Given the description of an element on the screen output the (x, y) to click on. 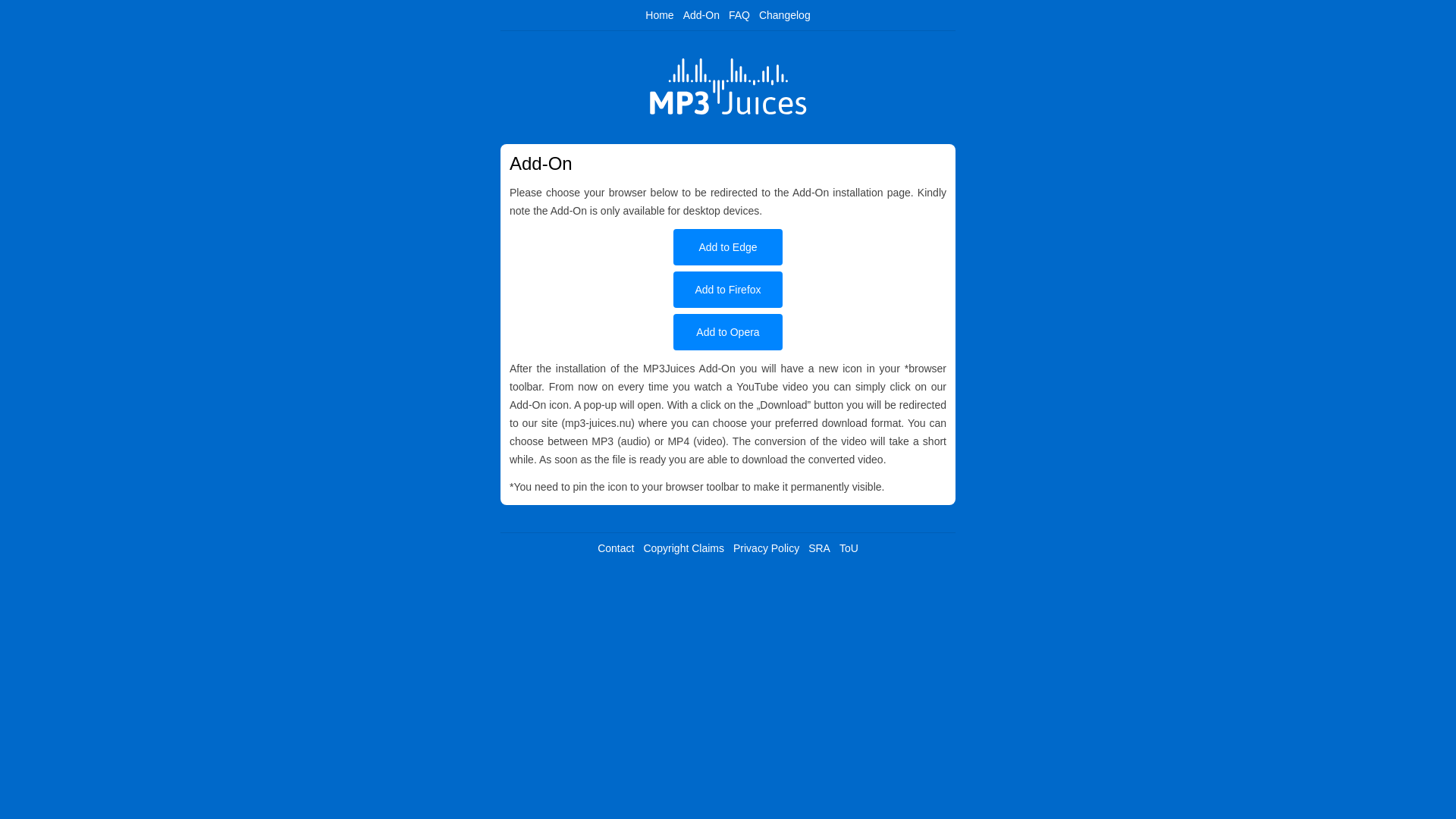
Home (658, 15)
Changelog (784, 15)
Add to Firefox (727, 289)
Privacy Policy (766, 548)
Copyright Claims (683, 548)
Add to Edge (727, 247)
ToU (849, 548)
SRA (818, 548)
Add to Opera (727, 331)
Add-On (700, 15)
Contact (614, 548)
FAQ (739, 15)
